Given the description of an element on the screen output the (x, y) to click on. 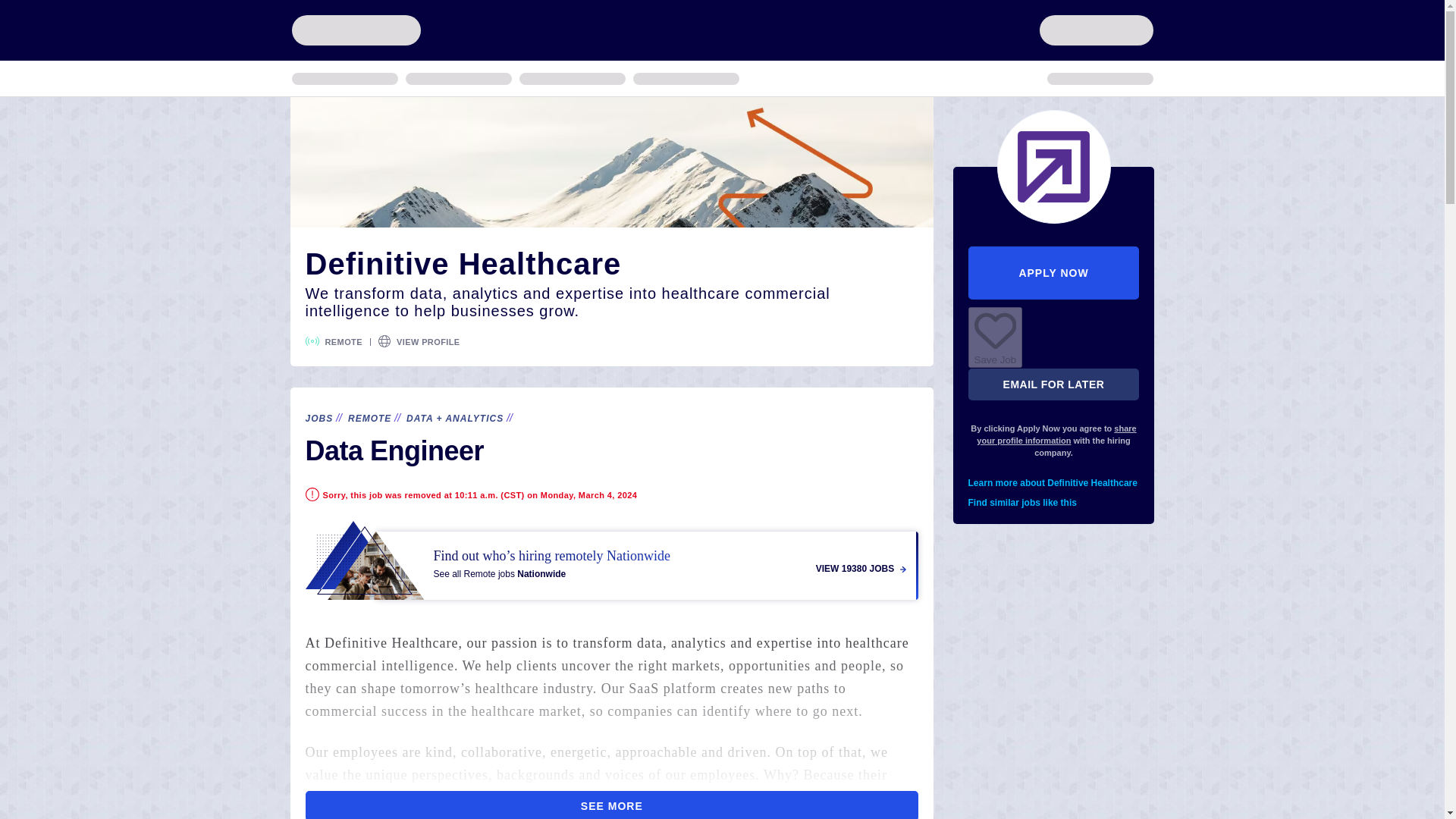
Learn more about Definitive Healthcare (1054, 483)
share your profile information (1055, 434)
REMOTE (369, 418)
View 19380 Jobs (611, 559)
VIEW PROFILE (428, 342)
JOBS (318, 418)
VIEW 19380 JOBS (860, 568)
Find similar jobs like this (1054, 503)
